Given the description of an element on the screen output the (x, y) to click on. 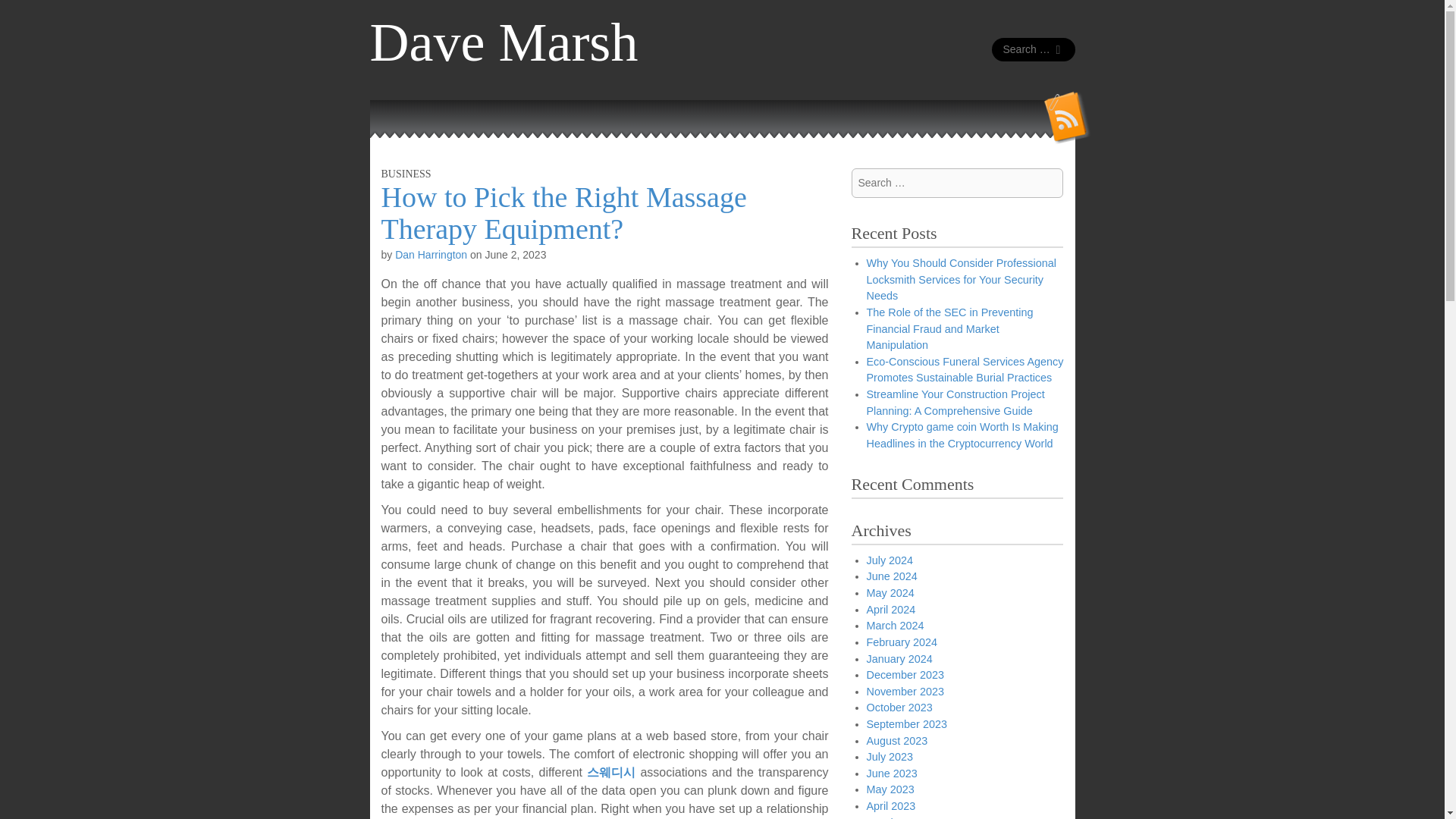
March 2024 (894, 625)
January 2024 (898, 658)
Dan Harrington (430, 254)
BUSINESS (405, 173)
April 2024 (890, 609)
Dave Marsh (504, 42)
May 2024 (890, 592)
June 2, 2023 (515, 254)
Dave Marsh (504, 42)
April 2023 (890, 806)
June 2023 (891, 773)
Search (23, 14)
September 2023 (906, 724)
May 2023 (890, 788)
